Given the description of an element on the screen output the (x, y) to click on. 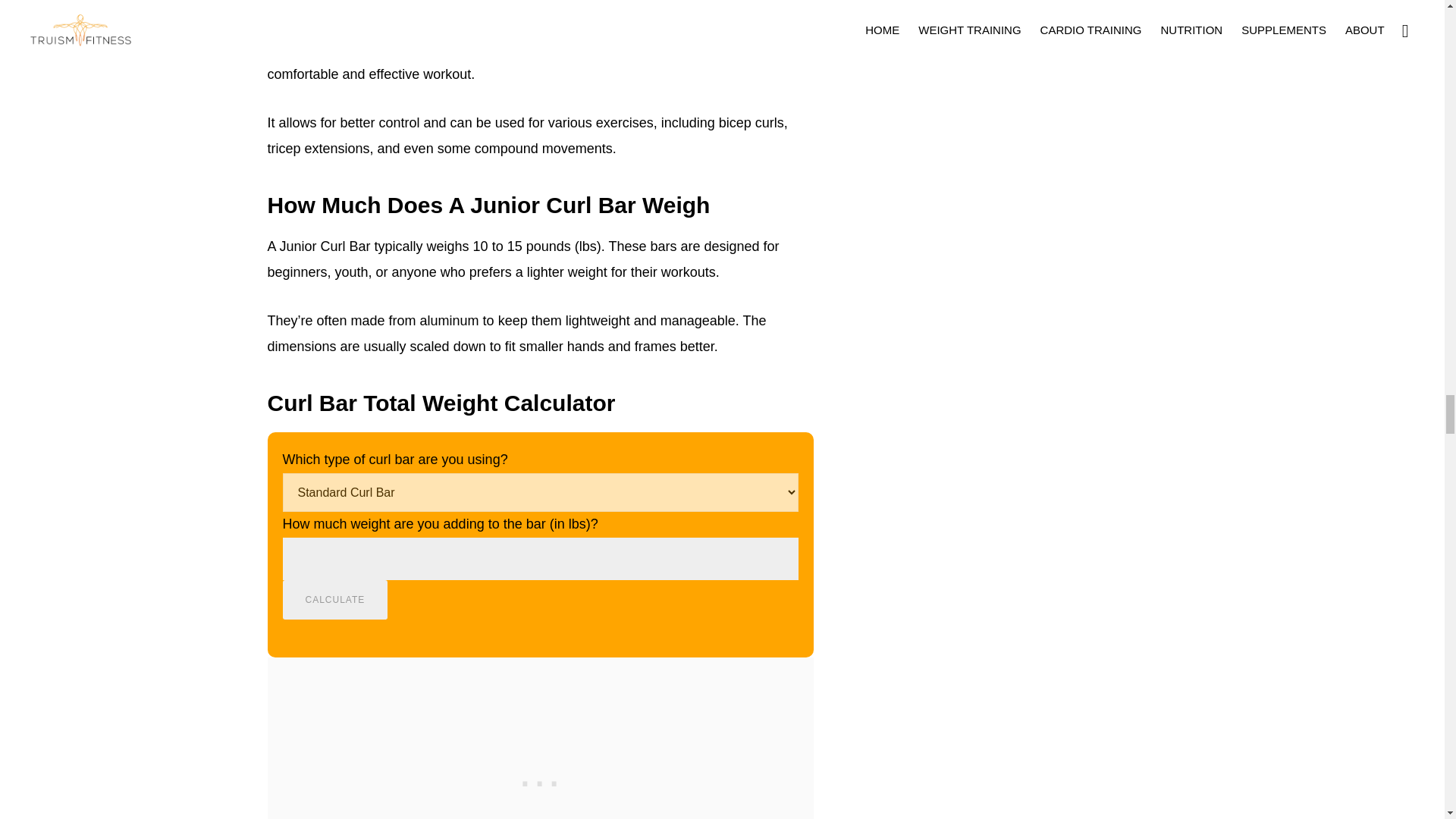
CALCULATE (334, 599)
